Given the description of an element on the screen output the (x, y) to click on. 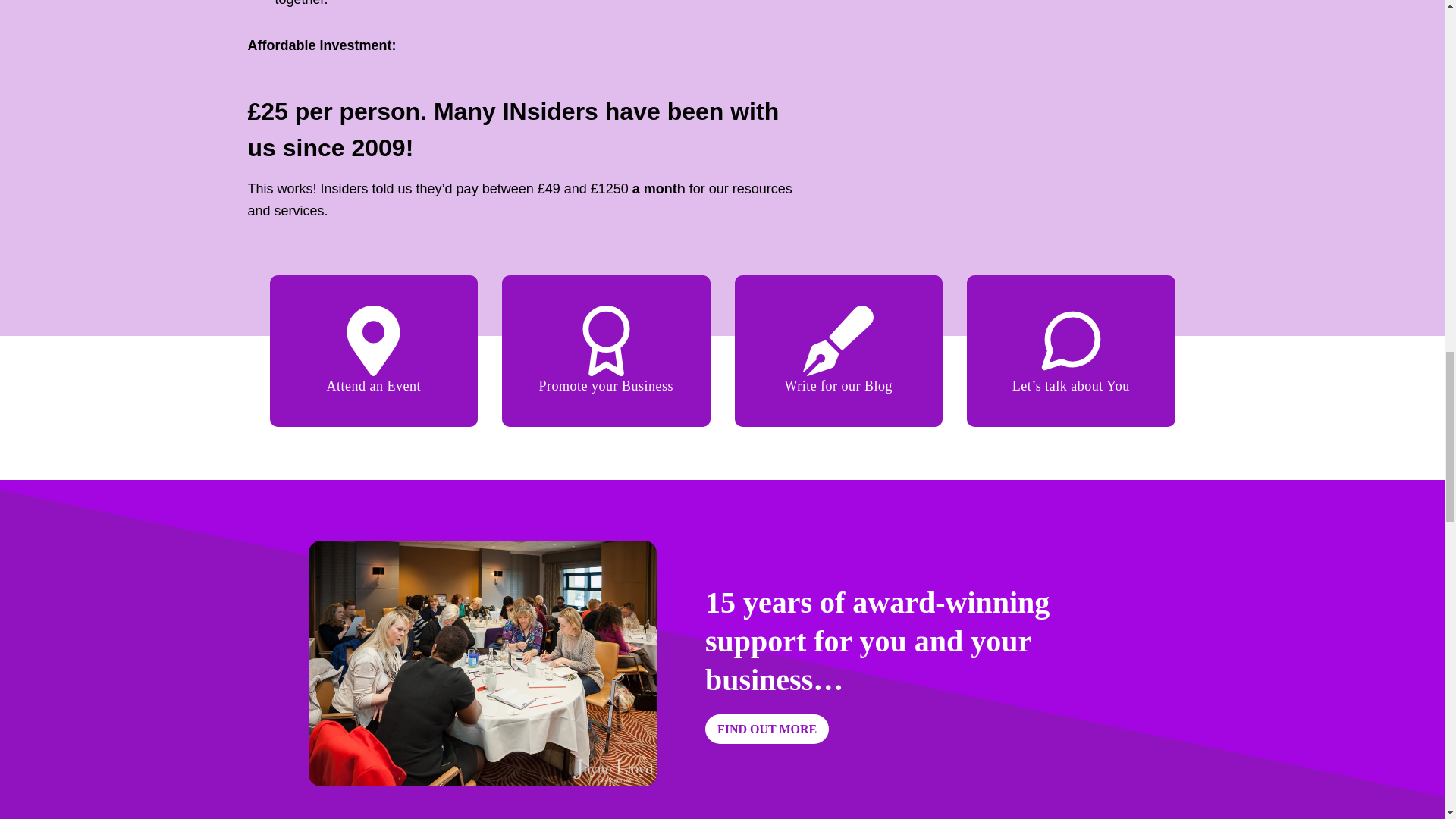
Promote your Business (605, 385)
Attend an Even (371, 385)
